Given the description of an element on the screen output the (x, y) to click on. 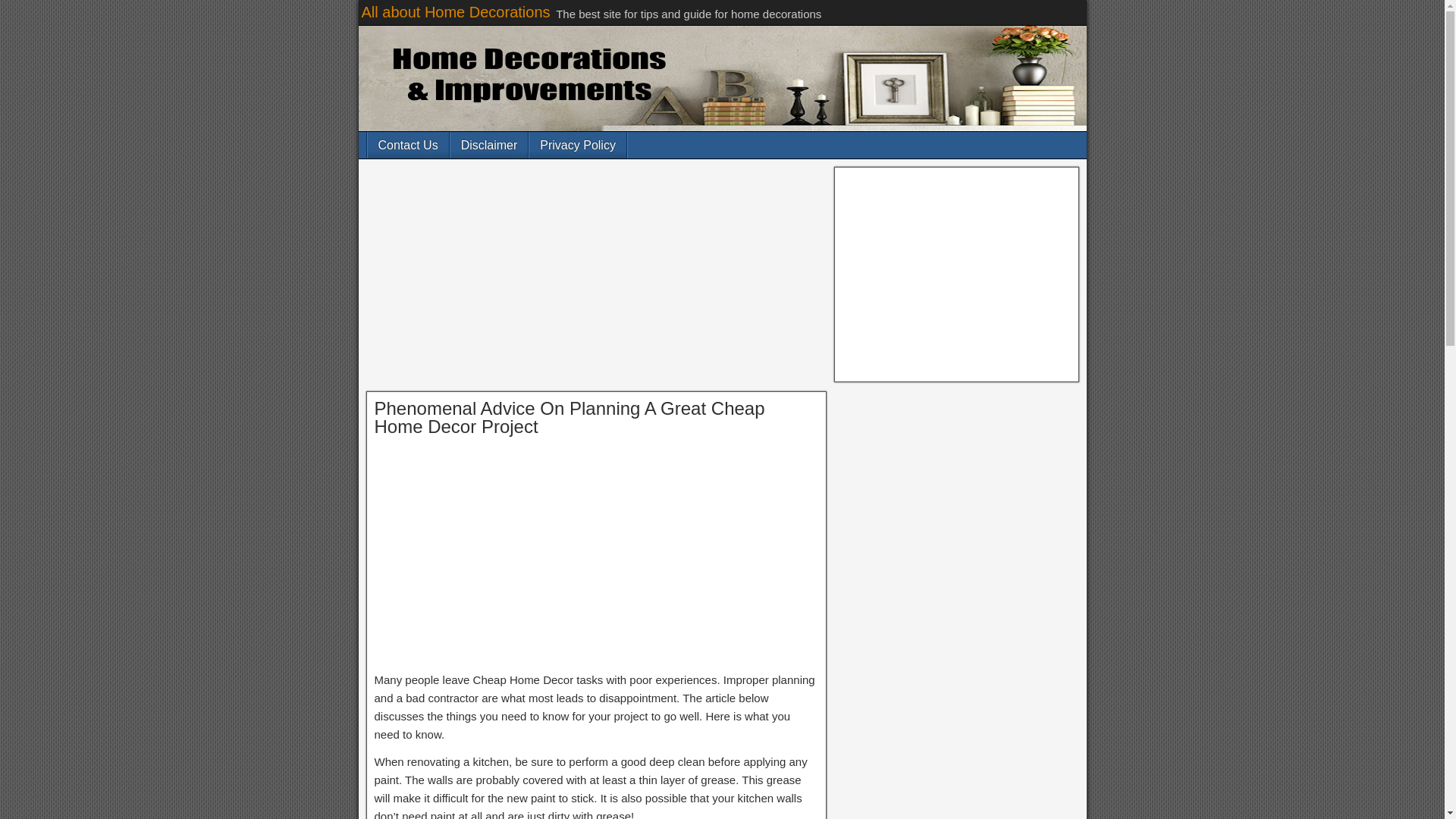
All about Home Decorations (455, 12)
Disclaimer (488, 144)
Contact Us (407, 144)
Advertisement (596, 558)
Advertisement (956, 274)
Advertisement (596, 278)
Privacy Policy (577, 144)
